Given the description of an element on the screen output the (x, y) to click on. 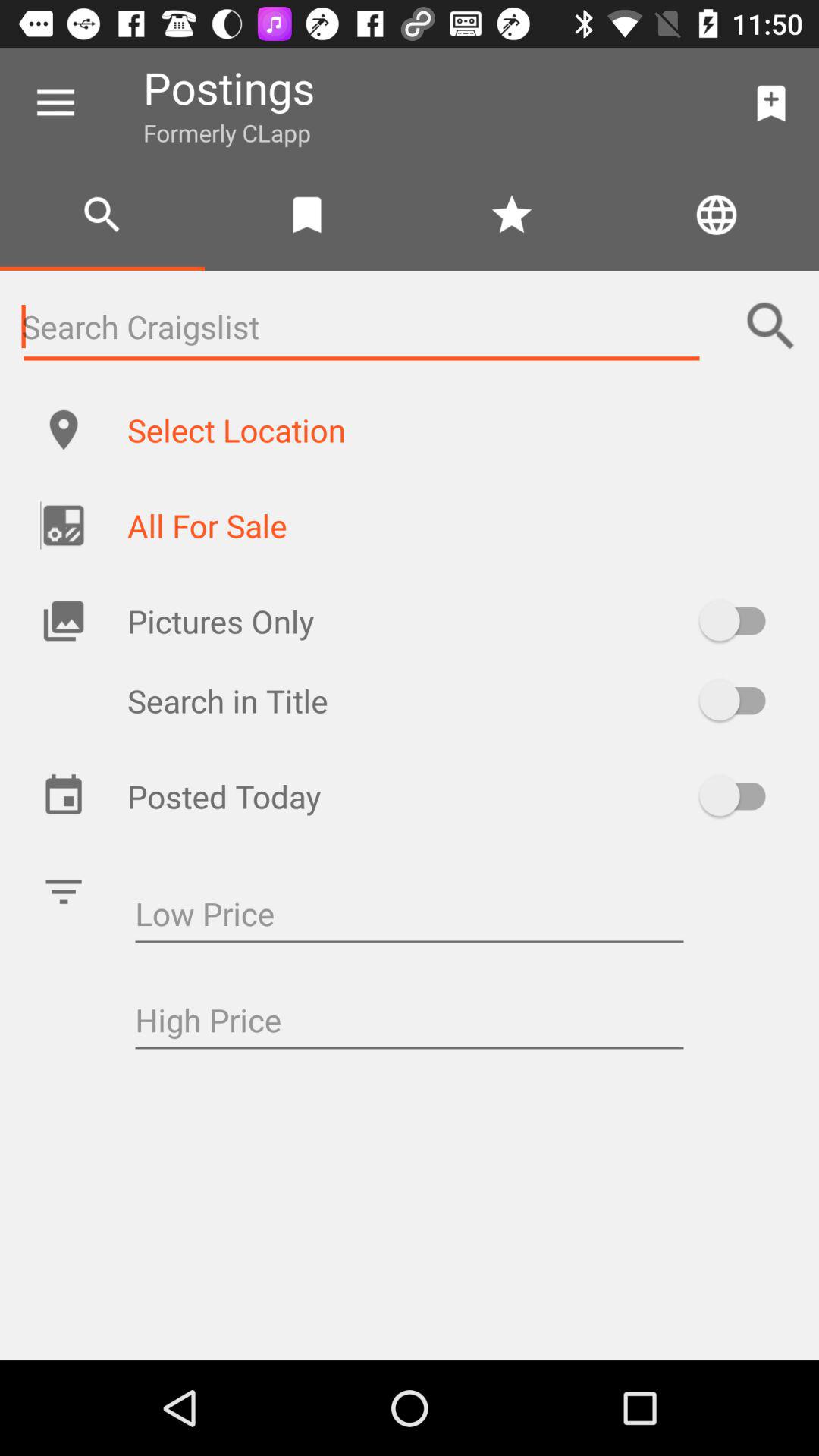
jump until the select location item (457, 429)
